Given the description of an element on the screen output the (x, y) to click on. 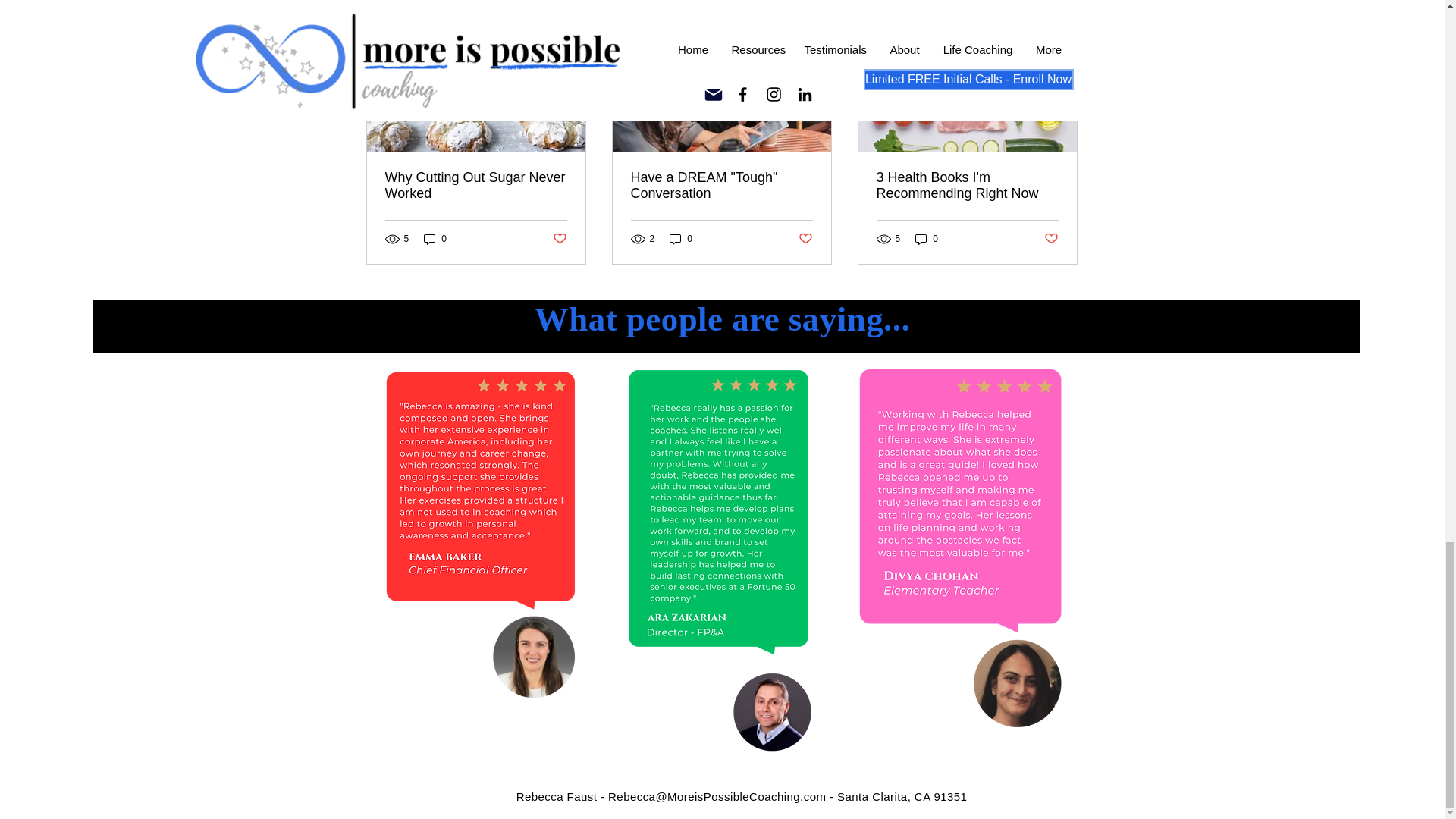
Why Cutting Out Sugar Never Worked (476, 185)
Post not marked as liked (804, 238)
0 (681, 238)
Have a DREAM "Tough" Conversation (721, 185)
See All (1061, 6)
Post not marked as liked (558, 238)
0 (435, 238)
3 Health Books I'm Recommending Right Now (967, 185)
